Given the description of an element on the screen output the (x, y) to click on. 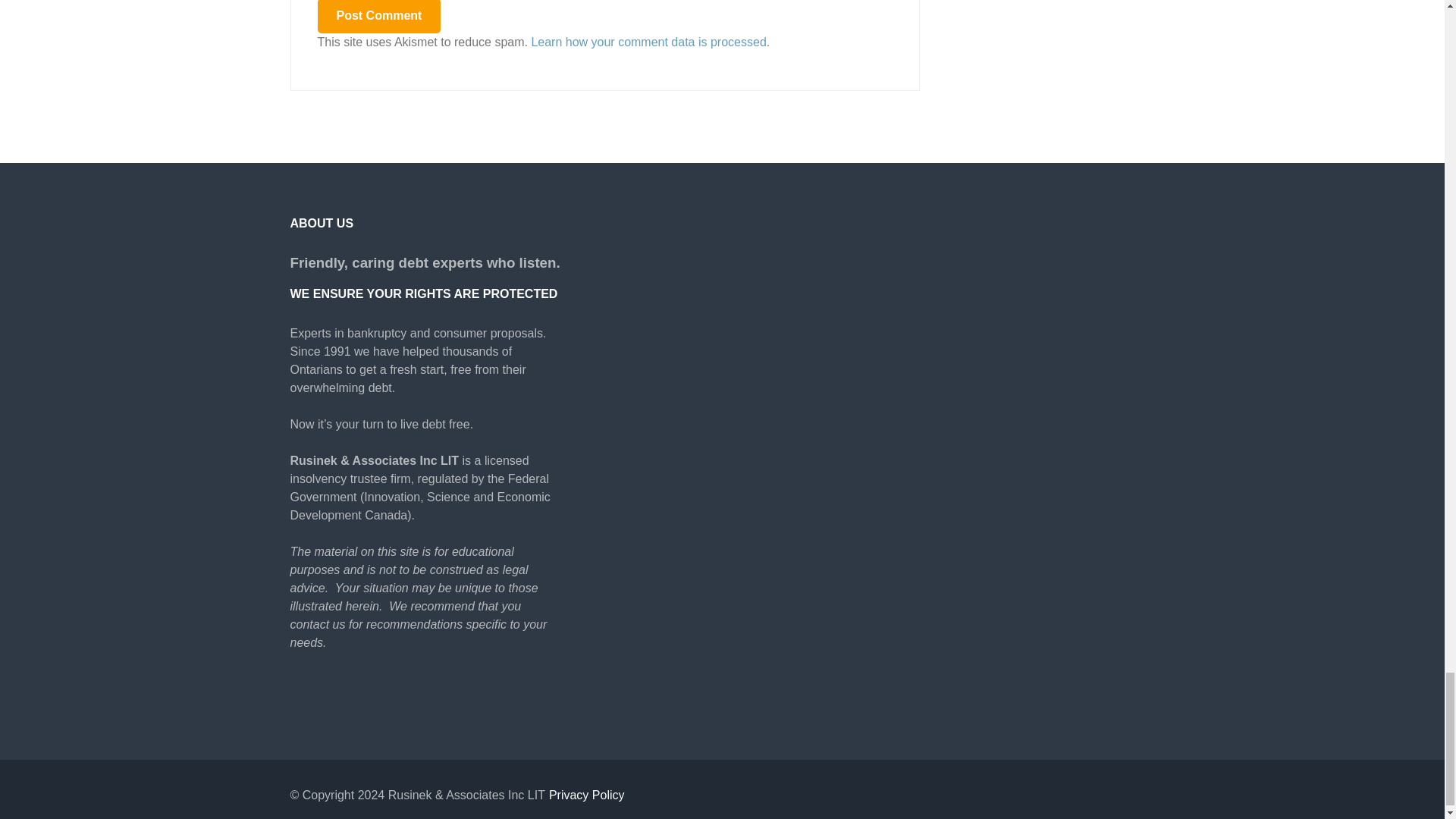
Post Comment (379, 16)
